Given the description of an element on the screen output the (x, y) to click on. 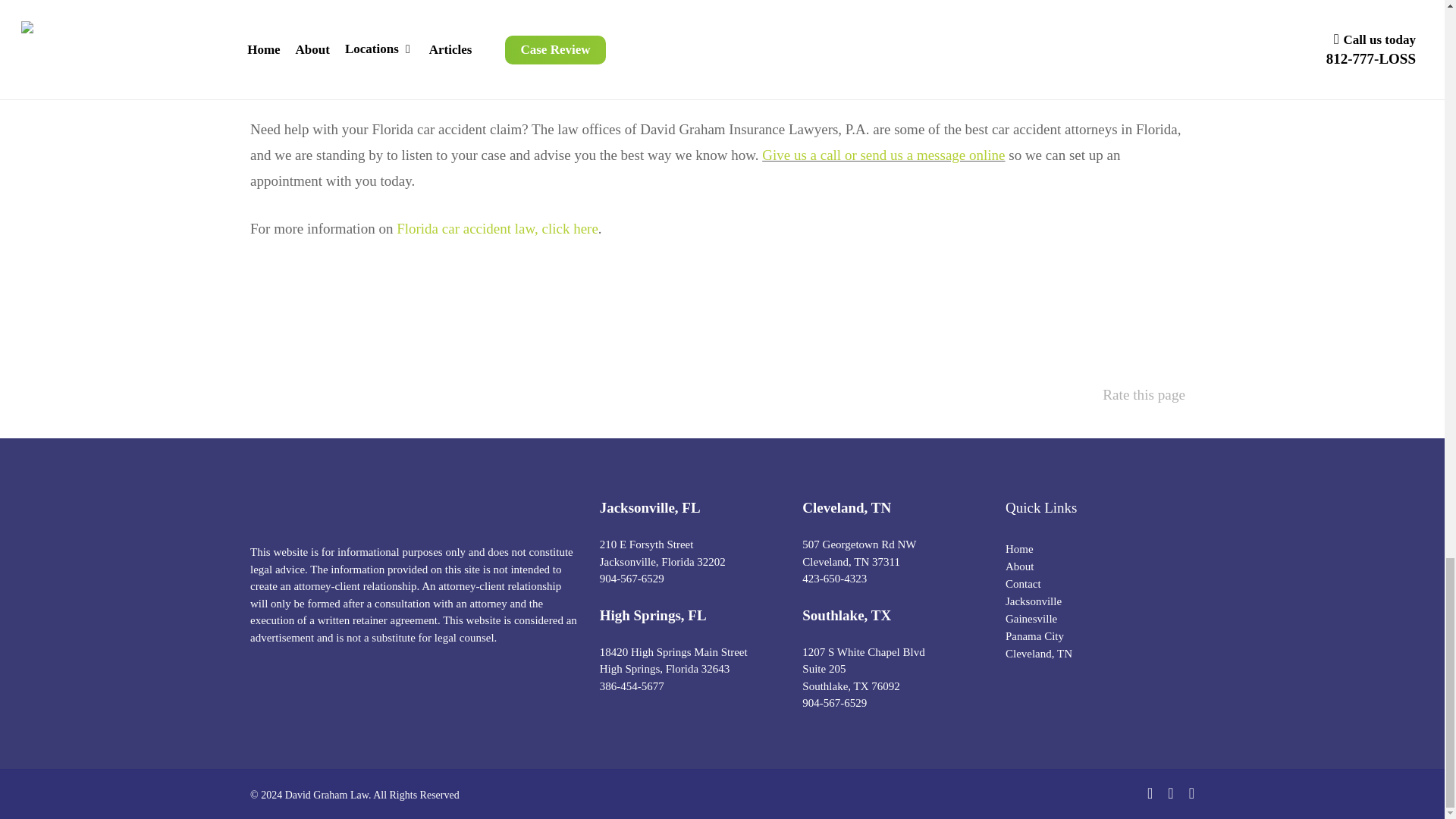
Cleveland, TN (1097, 654)
High Springs, FL (652, 614)
Home (1097, 549)
Jacksonville (1097, 601)
Contact (1097, 583)
Florida car accident law, click here (497, 227)
Cleveland, TN (846, 507)
Gainesville (1097, 618)
Jacksonville, FL (649, 507)
About (1097, 566)
